Given the description of an element on the screen output the (x, y) to click on. 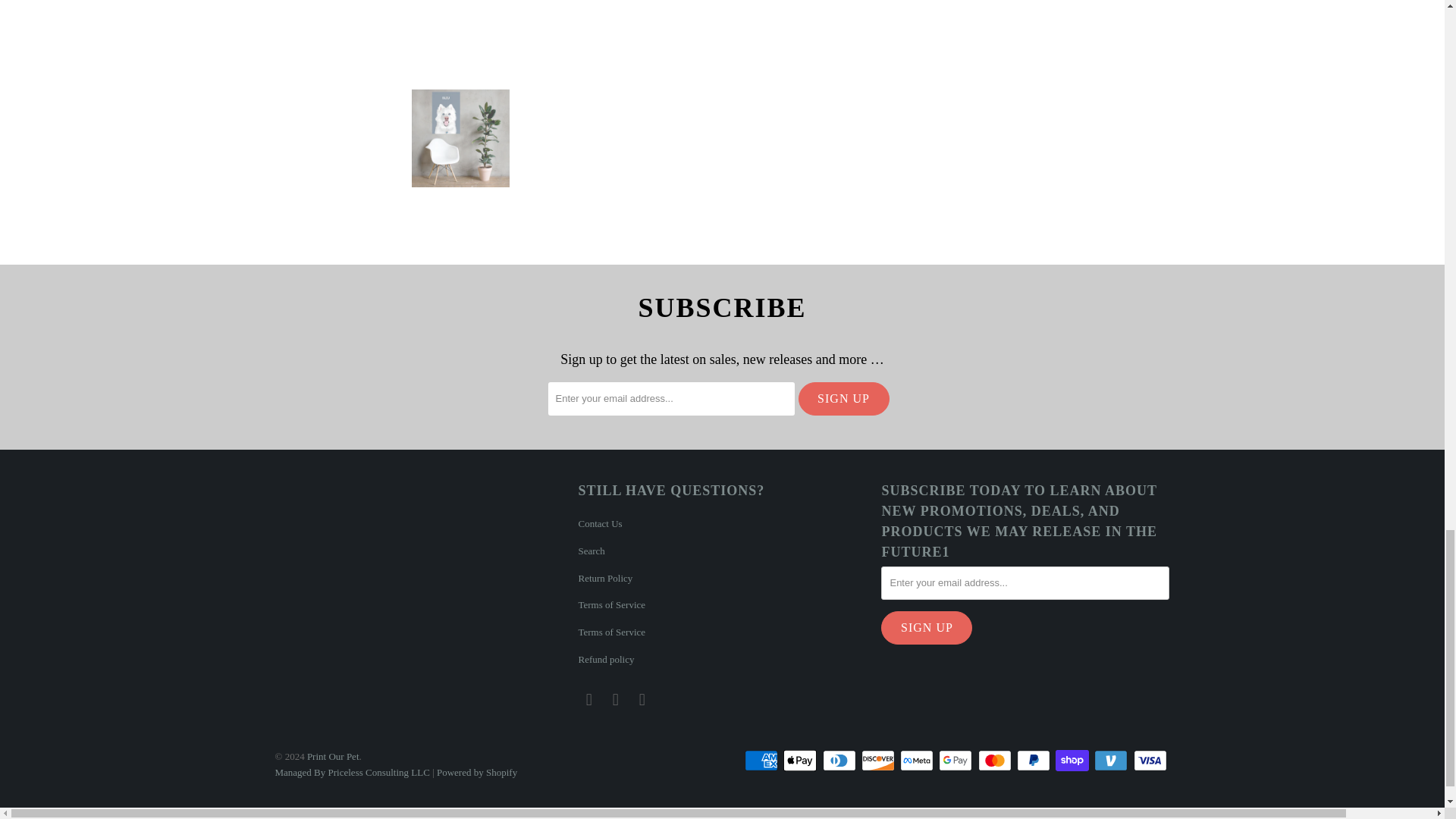
Discover (879, 760)
American Express (762, 760)
Diners Club (840, 760)
Print Our Pet on Instagram (615, 700)
Meta Pay (917, 760)
Shop Pay (1073, 760)
Mastercard (996, 760)
Email Print Our Pet (641, 700)
Sign Up (926, 627)
Apple Pay (801, 760)
Google Pay (957, 760)
Venmo (1112, 760)
Print Our Pet on Facebook (588, 700)
Visa (1150, 760)
PayPal (1034, 760)
